Given the description of an element on the screen output the (x, y) to click on. 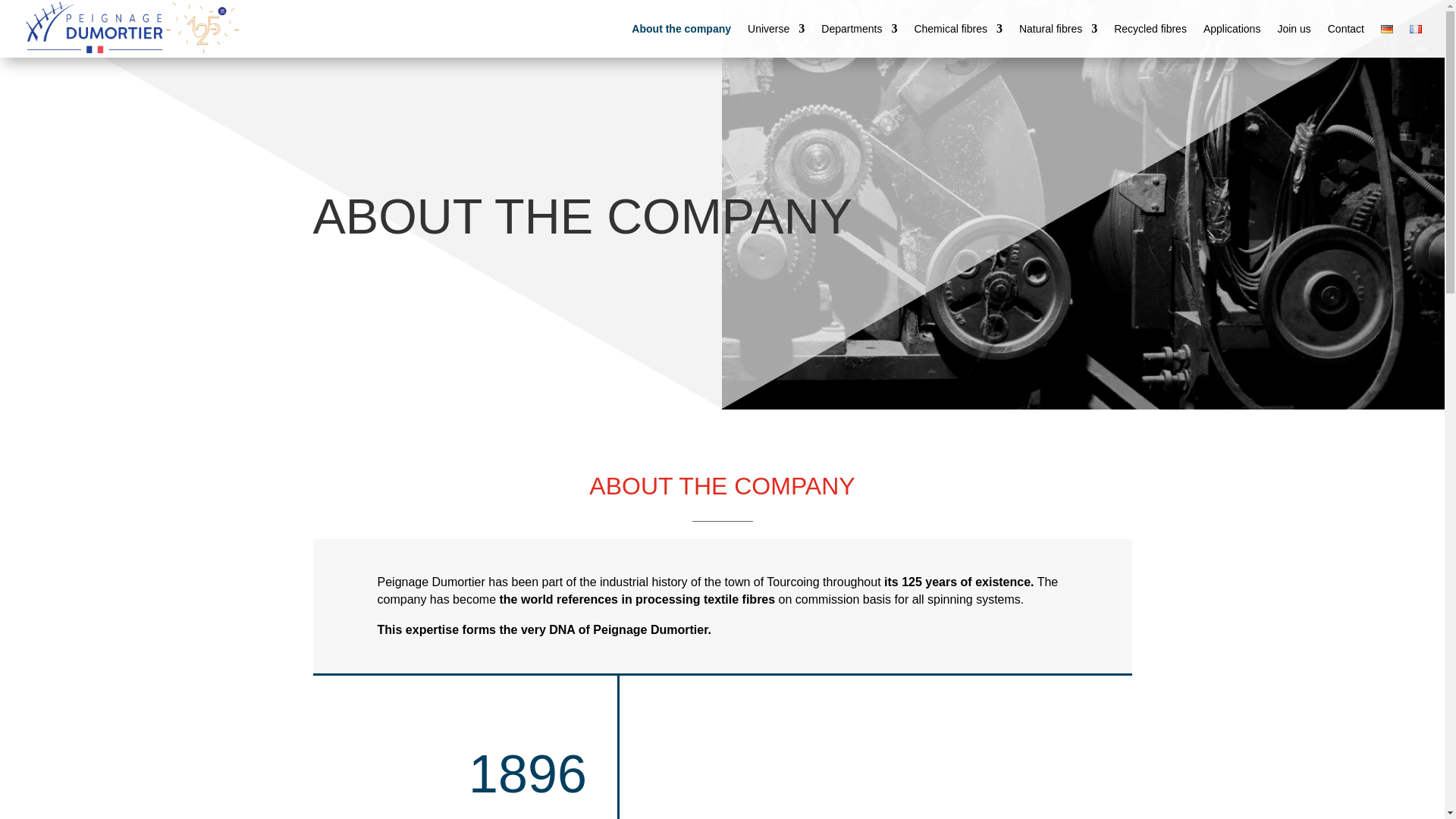
Recycled fibres (1149, 28)
Chemical fibres (957, 28)
Universe (776, 28)
Departments (858, 28)
Applications (1232, 28)
Natural fibres (1058, 28)
About the company (680, 28)
Deutsch (1386, 28)
